Given the description of an element on the screen output the (x, y) to click on. 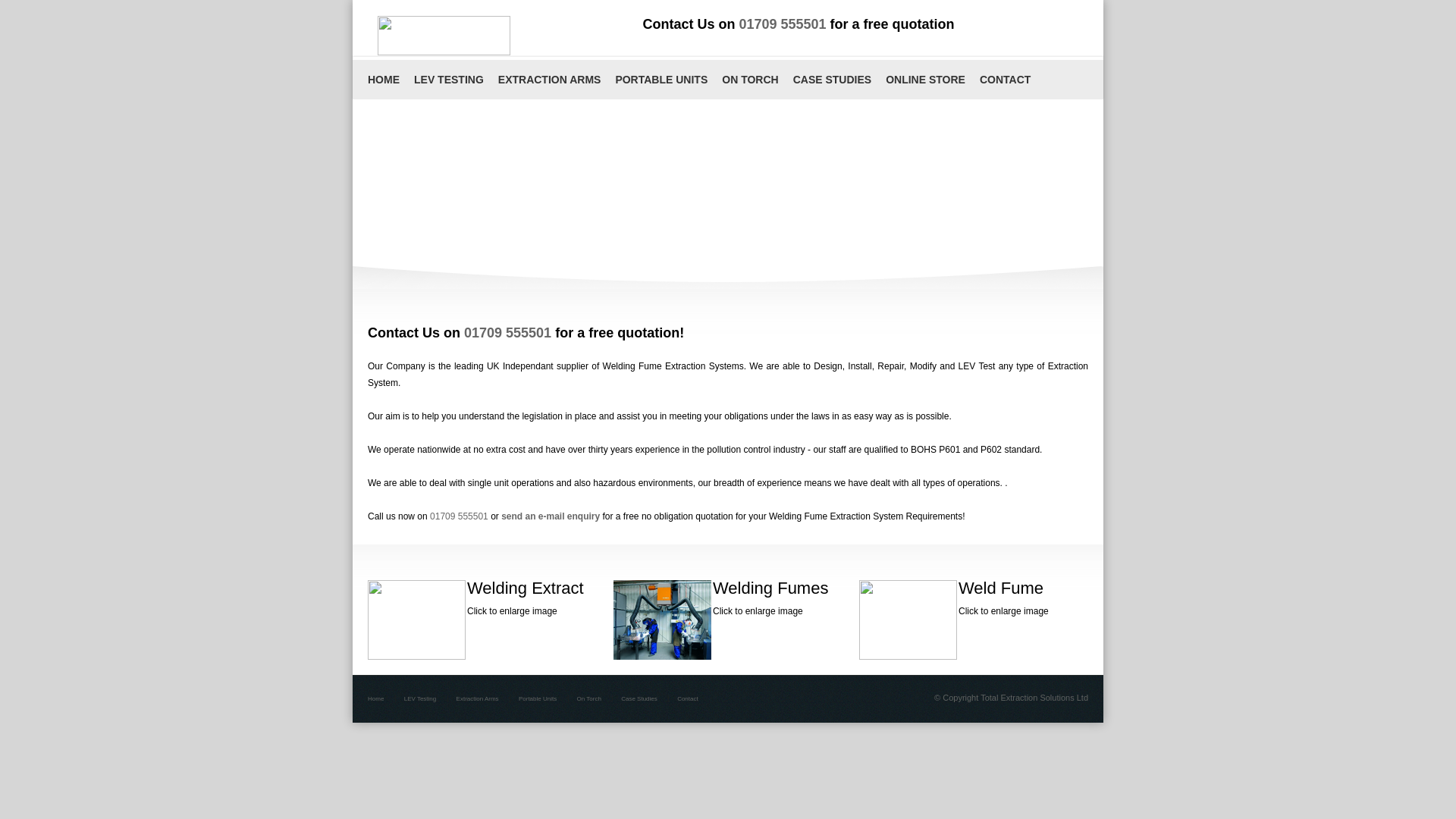
01709 555501 (458, 516)
PORTABLE UNITS (660, 79)
CASE STUDIES (831, 79)
Home (376, 698)
01709 555501 (507, 332)
Case Studies (639, 698)
Portable Units (537, 698)
On Torch (588, 698)
EXTRACTION ARMS (549, 79)
send an e-mail enquiry (549, 516)
01709 555501 (781, 23)
Extraction Arms (478, 698)
LEV Testing (420, 698)
ON TORCH (749, 79)
CONTACT (1004, 79)
